Given the description of an element on the screen output the (x, y) to click on. 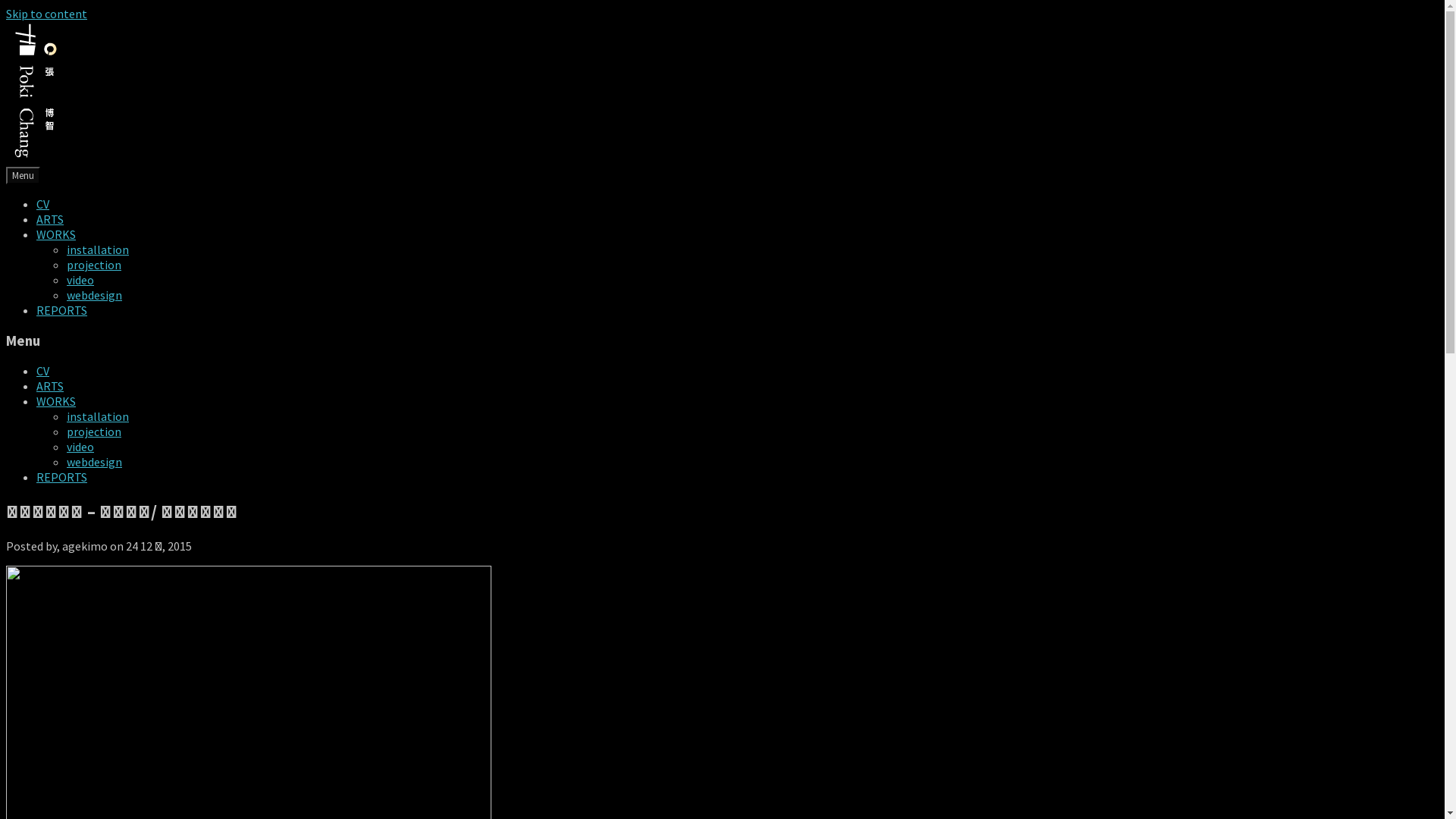
WORKS Element type: text (55, 233)
Skip to content Element type: text (46, 13)
video Element type: text (80, 446)
webdesign Element type: text (94, 461)
projection Element type: text (93, 431)
Menu Element type: text (23, 175)
WORKS Element type: text (55, 400)
pokiChang Element type: hover (35, 158)
REPORTS Element type: text (61, 476)
ARTS Element type: text (49, 385)
CV Element type: text (42, 370)
installation Element type: text (97, 249)
ARTS Element type: text (49, 218)
webdesign Element type: text (94, 294)
installation Element type: text (97, 415)
video Element type: text (80, 279)
CV Element type: text (42, 203)
REPORTS Element type: text (61, 309)
projection Element type: text (93, 264)
